Given the description of an element on the screen output the (x, y) to click on. 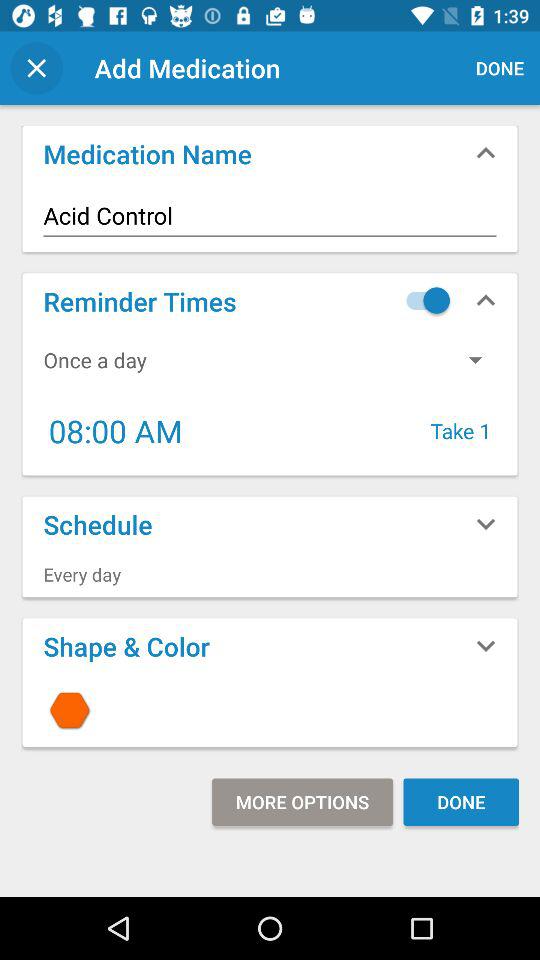
tap the icon below the   icon (302, 801)
